Given the description of an element on the screen output the (x, y) to click on. 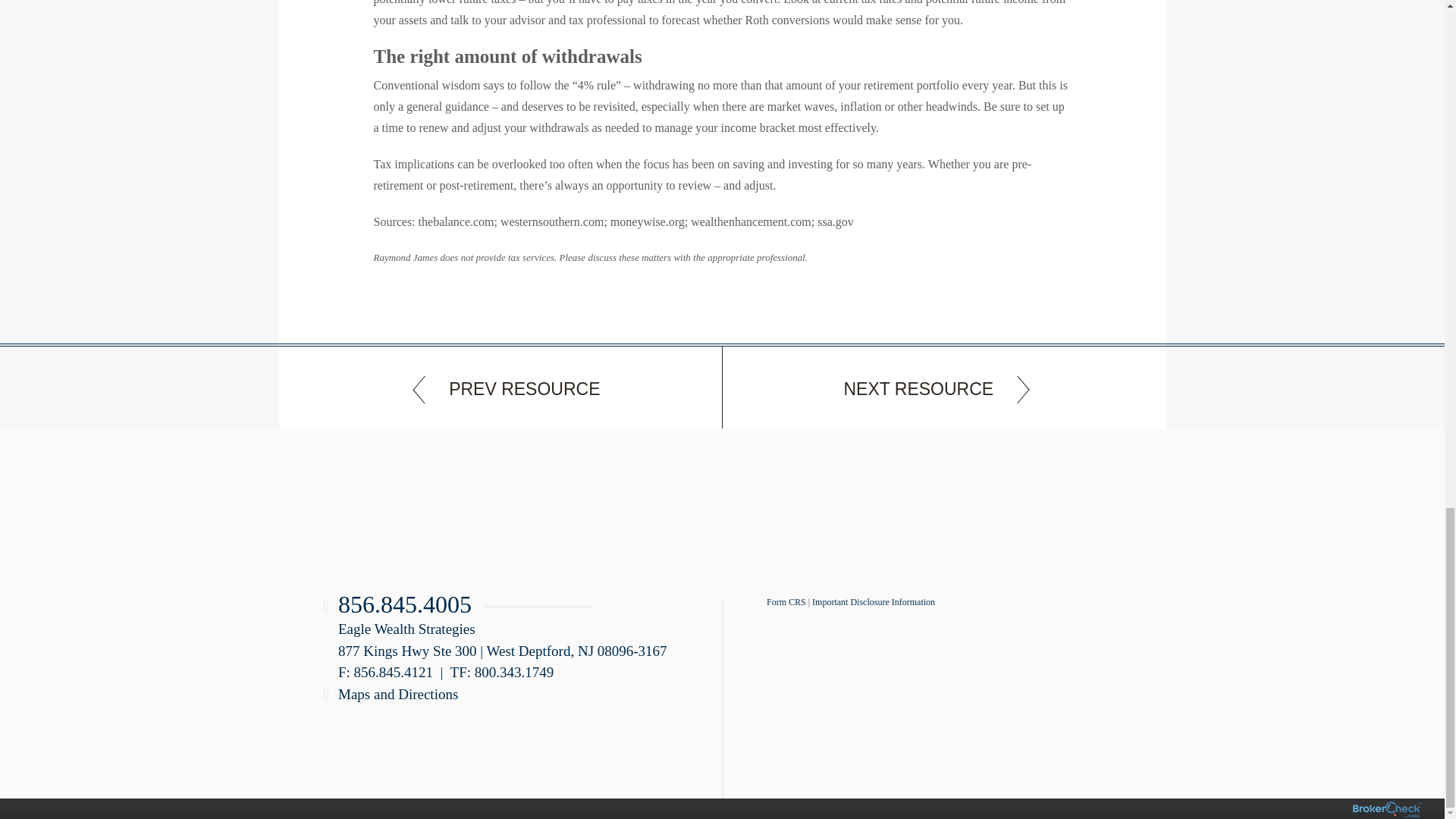
Important Disclosure Information (873, 602)
